Given the description of an element on the screen output the (x, y) to click on. 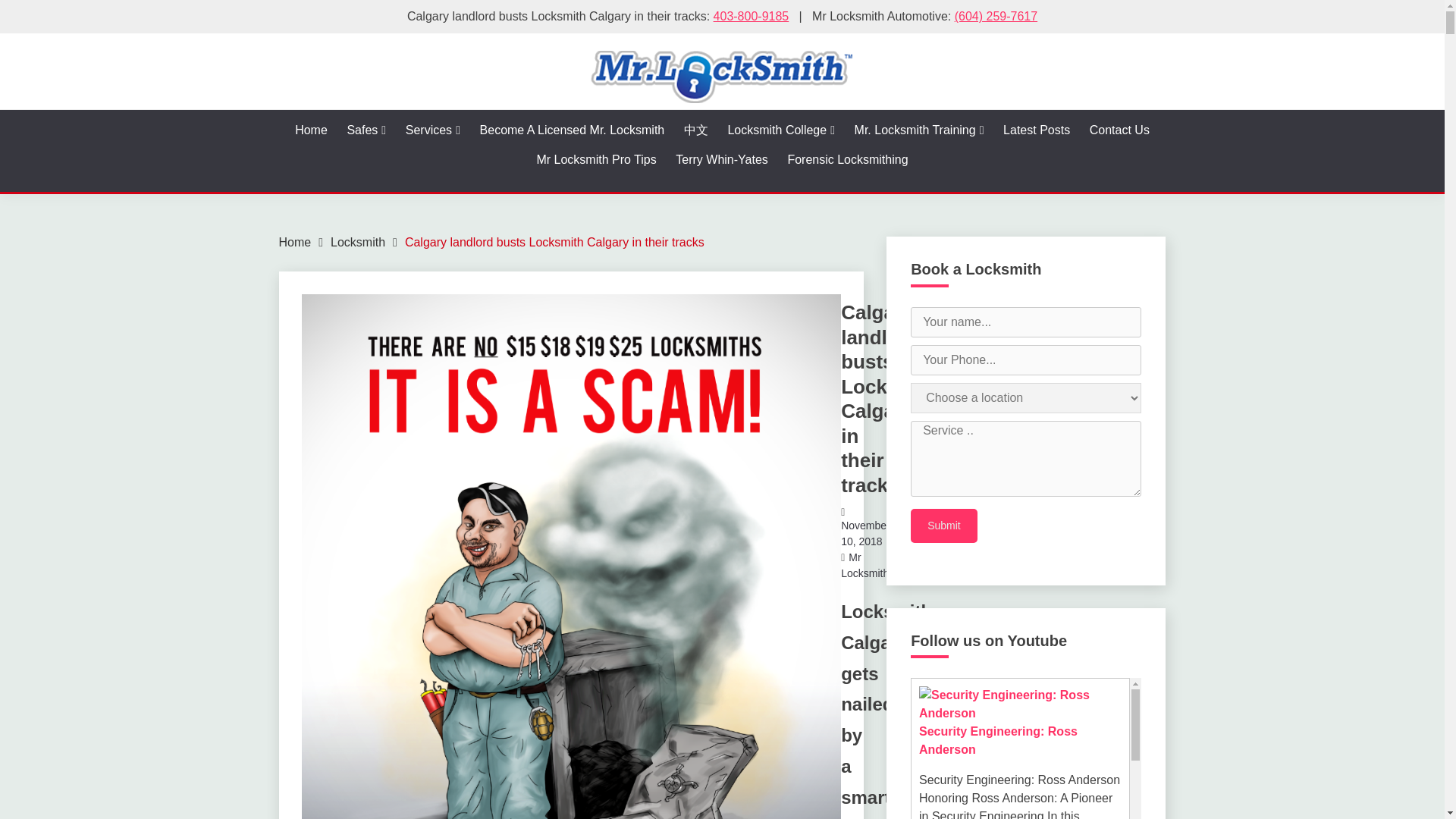
Safes (365, 130)
Services (433, 130)
Home (311, 130)
Become A Licensed Mr. Locksmith (572, 130)
Locksmith College (780, 130)
Submit (943, 524)
MR. LOCKSMITH (391, 133)
Search (832, 18)
403-800-9185 (751, 15)
